Given the description of an element on the screen output the (x, y) to click on. 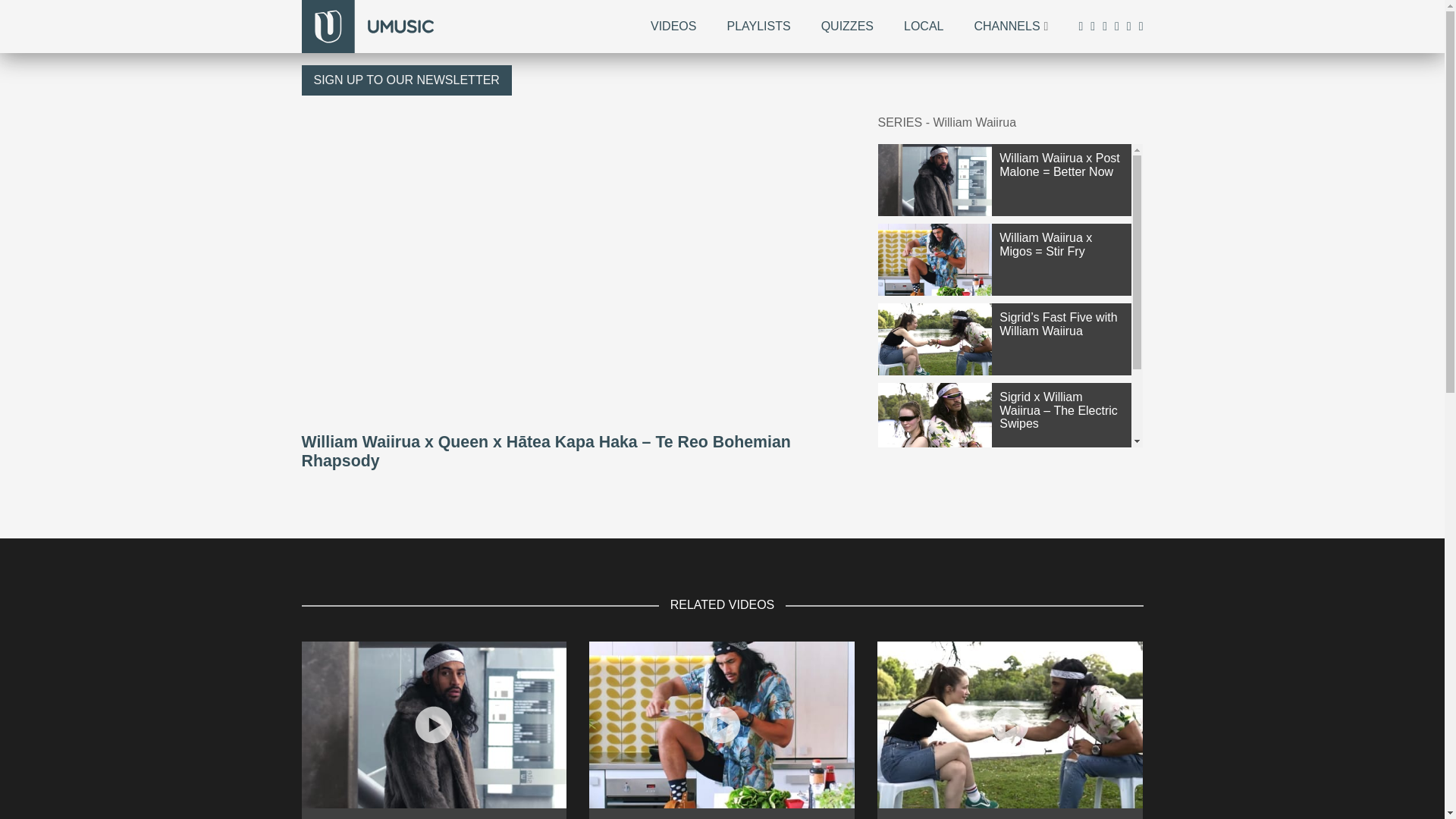
QUIZZES (847, 25)
CHANNELS (1006, 25)
PLAYLISTS (758, 25)
LOCAL (923, 25)
VIDEOS (672, 25)
